Given the description of an element on the screen output the (x, y) to click on. 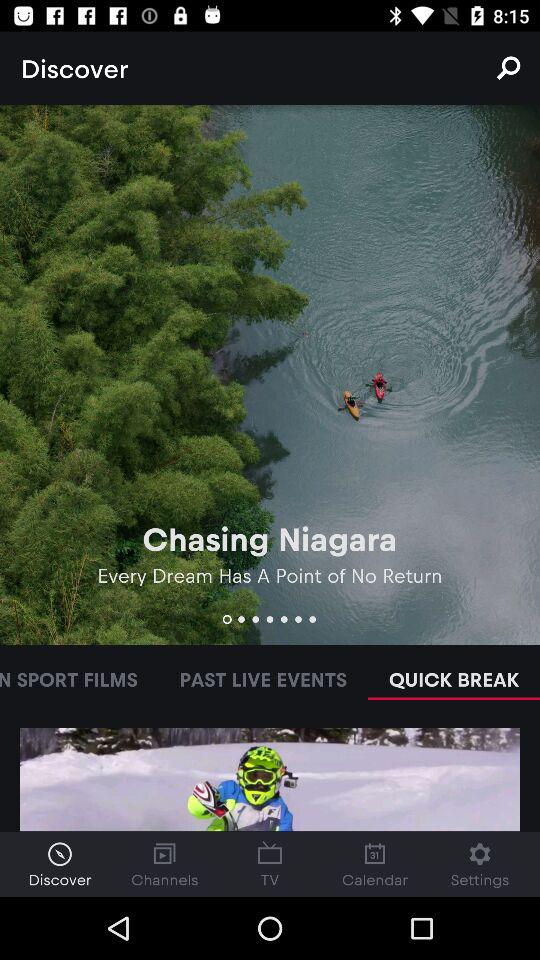
click the icon to the right of discover item (508, 67)
